Given the description of an element on the screen output the (x, y) to click on. 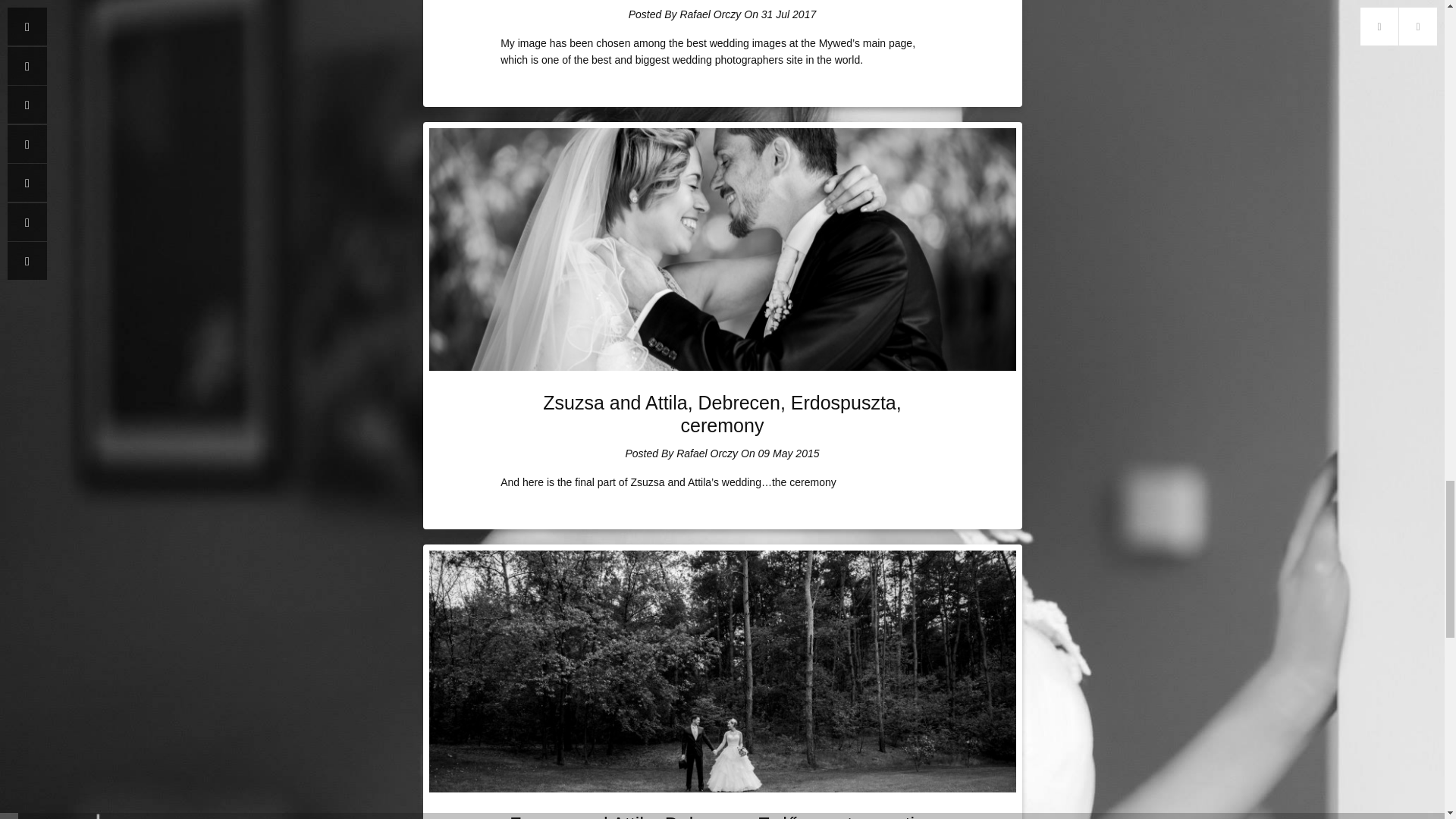
Posts by Rafael Orczy (707, 453)
Posts by Rafael Orczy (710, 14)
Zsuzsa and Attila, Debrecen, Erdospuszta, ceremony (722, 413)
Rafael Orczy (710, 14)
Rafael Orczy (707, 453)
